Given the description of an element on the screen output the (x, y) to click on. 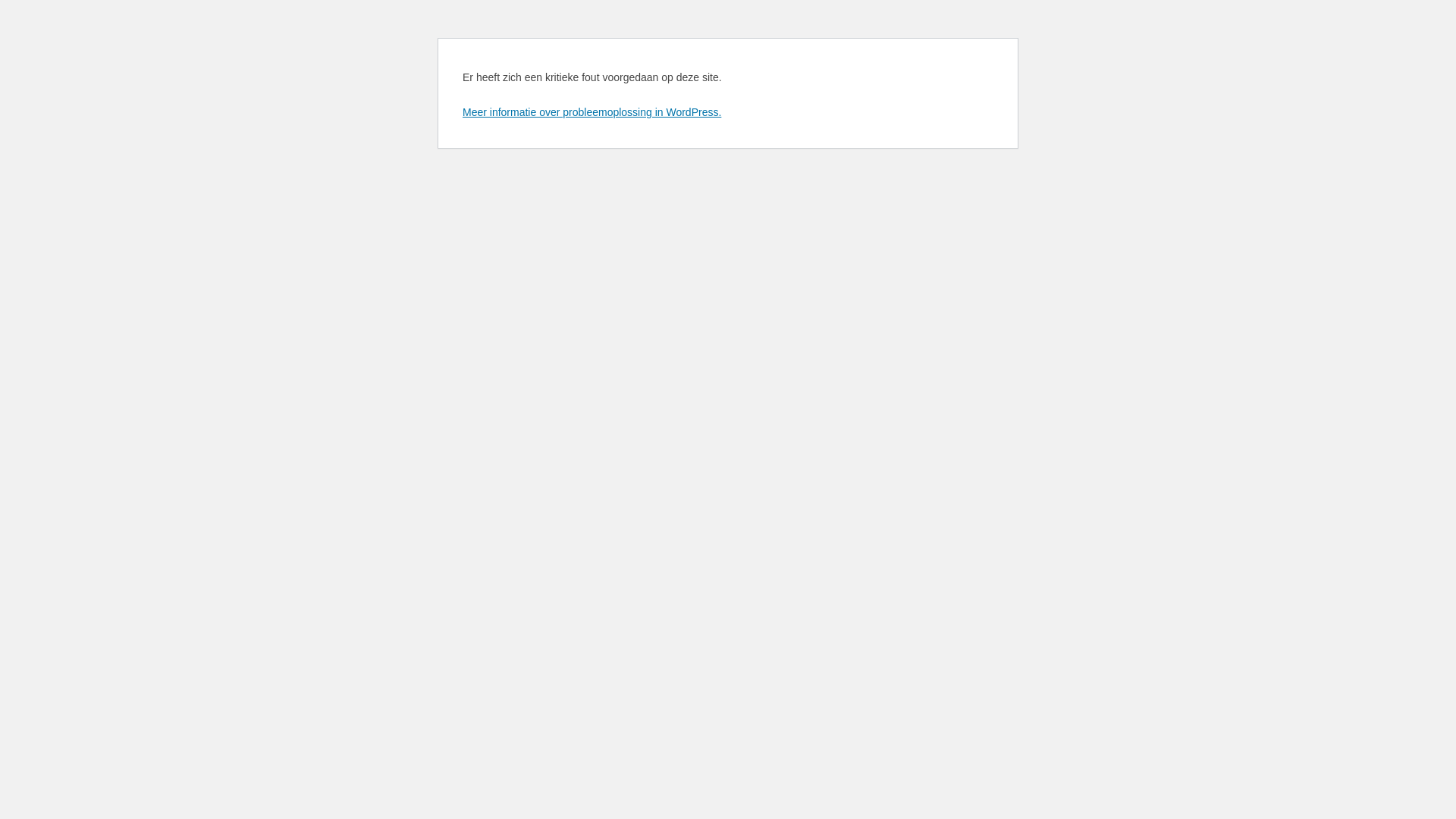
Meer informatie over probleemoplossing in WordPress. Element type: text (591, 112)
